Given the description of an element on the screen output the (x, y) to click on. 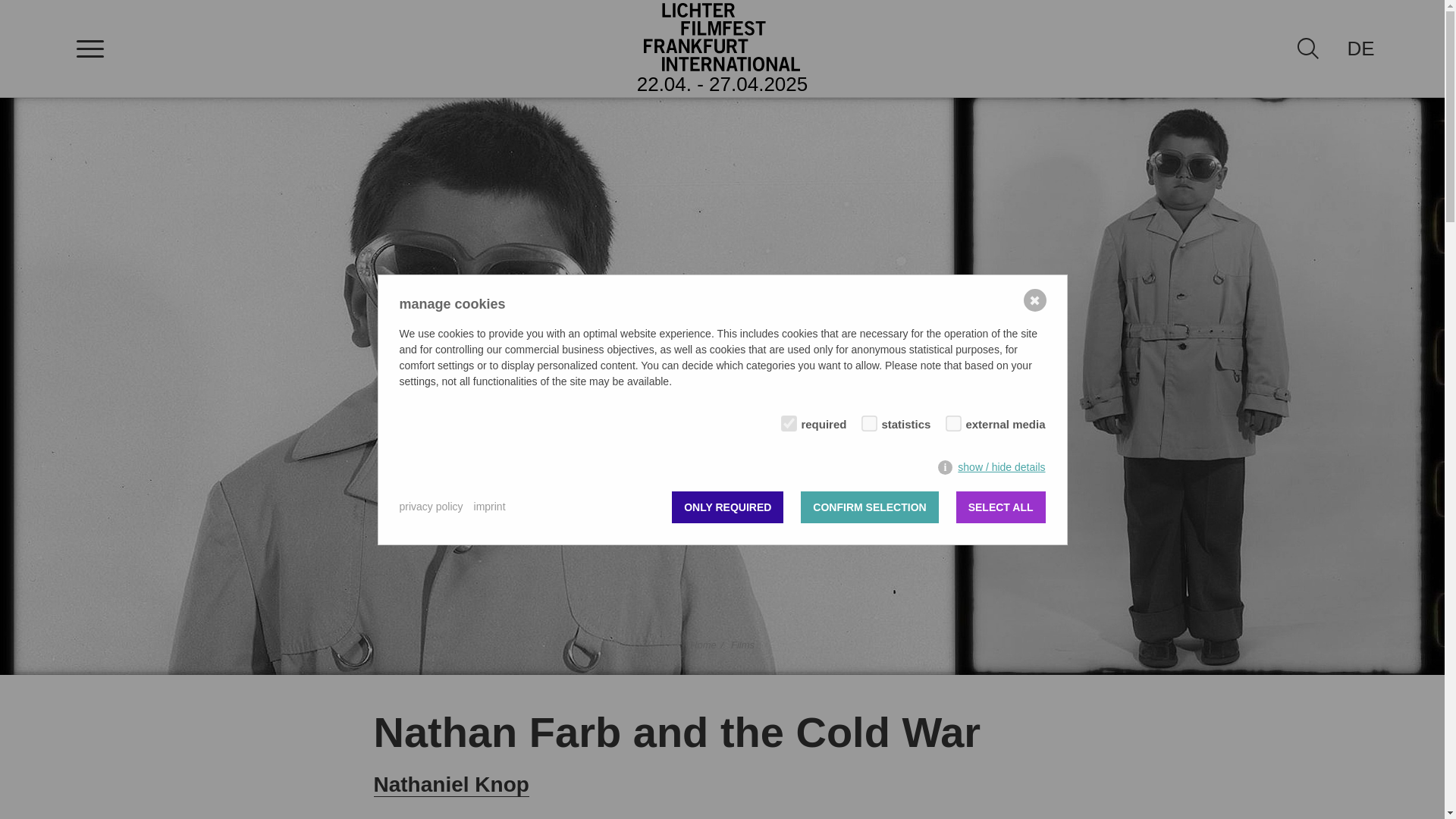
search (1308, 47)
deutsch (1360, 47)
on (949, 420)
on (865, 420)
suchen (22, 7)
on (785, 420)
Lichter Filmfest (721, 37)
search (1307, 47)
DE (1360, 47)
